Given the description of an element on the screen output the (x, y) to click on. 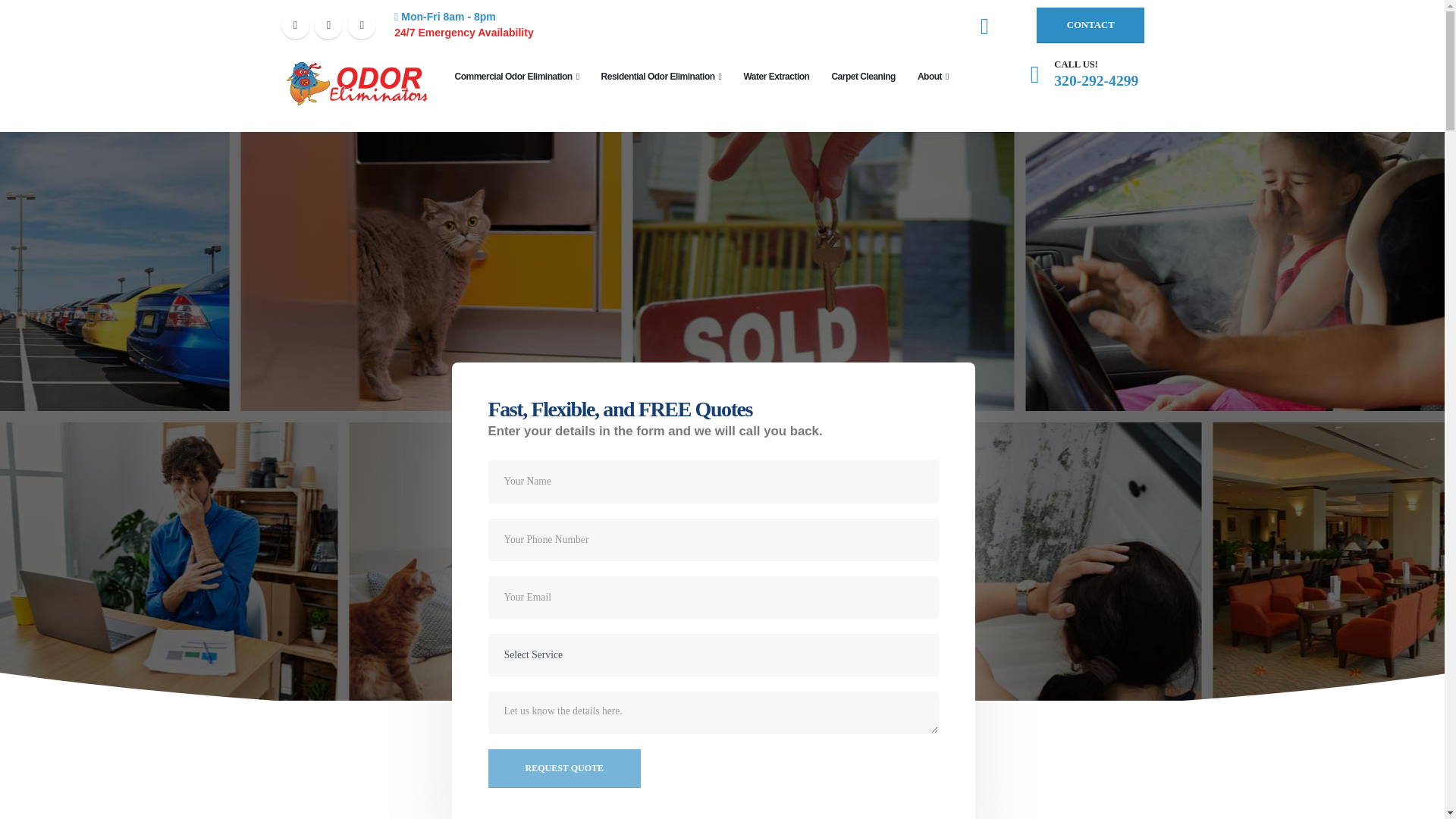
Facebook (294, 24)
Youtube (361, 24)
About (933, 76)
Water Extraction (775, 76)
Twitter (328, 24)
CONTACT (1090, 25)
REQUEST QUOTE (563, 768)
Residential Odor Elimination (661, 76)
